Given the description of an element on the screen output the (x, y) to click on. 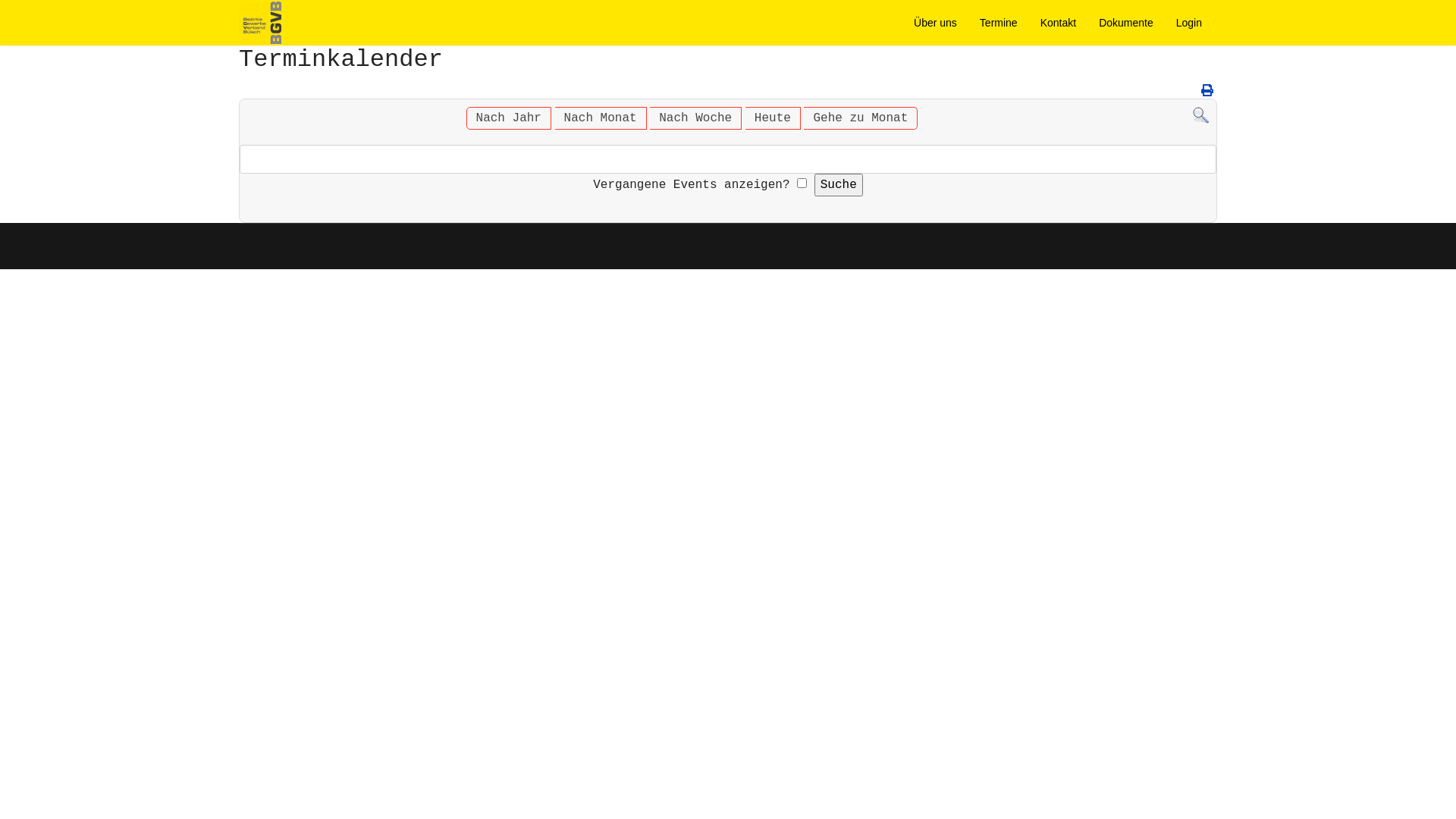
Gehe zu Monat Element type: text (859, 117)
Suche Element type: hover (1200, 115)
Dokumente Element type: text (1125, 22)
Nach Monat Element type: text (600, 117)
Kontakt Element type: text (1058, 22)
Login Element type: text (1188, 22)
Heute Element type: text (772, 117)
Nach Jahr Element type: text (508, 117)
Drucken Element type: hover (1207, 91)
Suche Element type: text (838, 184)
Nach Woche Element type: text (694, 117)
Termine Element type: text (998, 22)
